Given the description of an element on the screen output the (x, y) to click on. 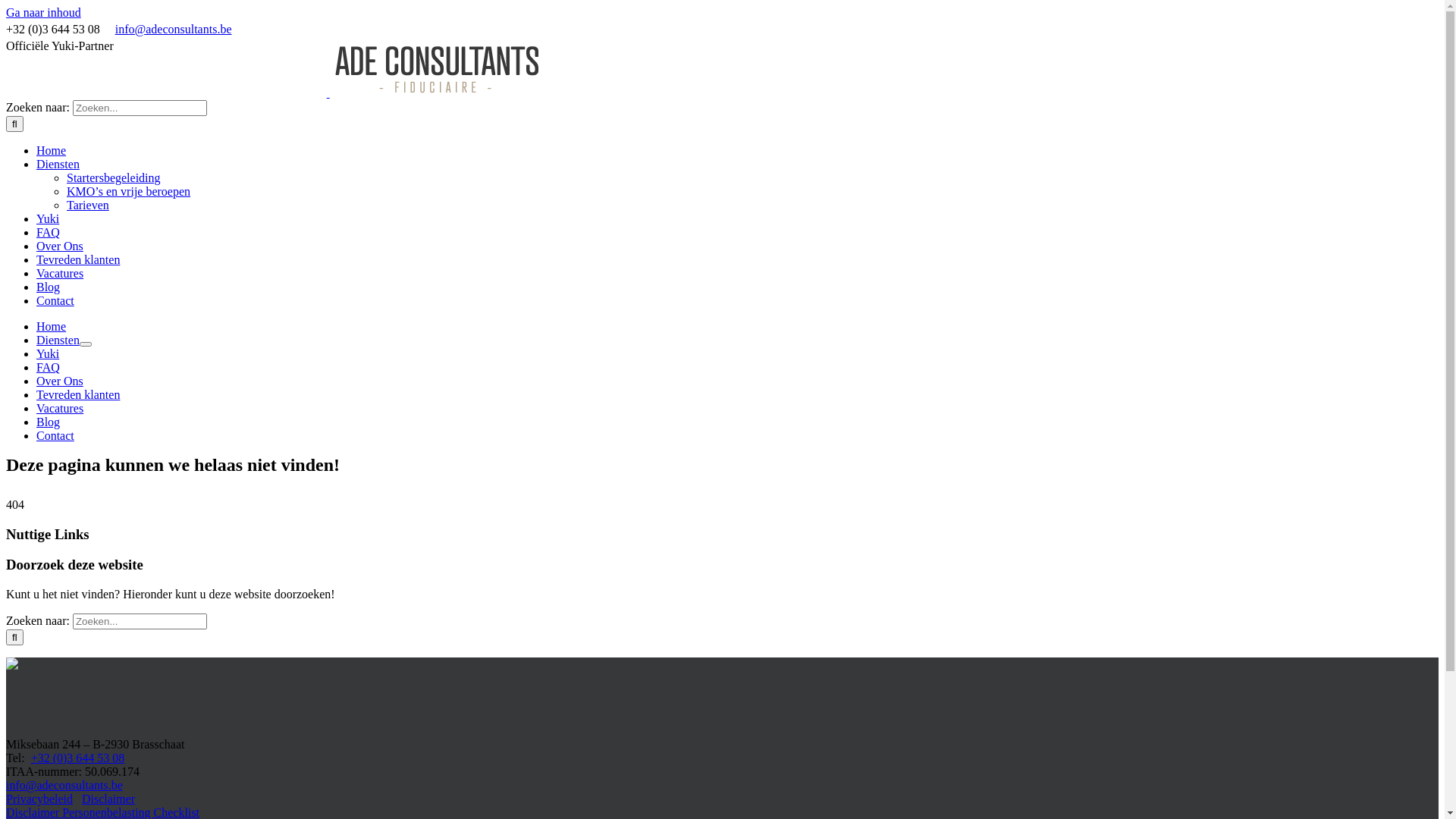
info@adeconsultants.be Element type: text (173, 28)
Contact Element type: text (55, 300)
Blog Element type: text (47, 286)
Home Element type: text (50, 326)
Tevreden klanten Element type: text (77, 259)
+32 (0)3 644 53 08 Element type: text (78, 757)
Yuki Element type: text (47, 353)
Over Ons Element type: text (59, 245)
Home Element type: text (50, 150)
info@adeconsultants.be Element type: text (64, 784)
Vacatures Element type: text (59, 272)
Startersbegeleiding Element type: text (113, 177)
Tevreden klanten Element type: text (77, 394)
Disclaimer Element type: text (107, 798)
Yuki Element type: text (47, 218)
Diensten Element type: text (57, 339)
Blog Element type: text (47, 421)
Vacatures Element type: text (59, 407)
FAQ Element type: text (47, 231)
Tarieven Element type: text (87, 204)
Privacybeleid Element type: text (39, 798)
Contact Element type: text (55, 435)
FAQ Element type: text (47, 366)
Over Ons Element type: text (59, 380)
Diensten Element type: text (57, 163)
Ga naar inhoud Element type: text (43, 12)
